Given the description of an element on the screen output the (x, y) to click on. 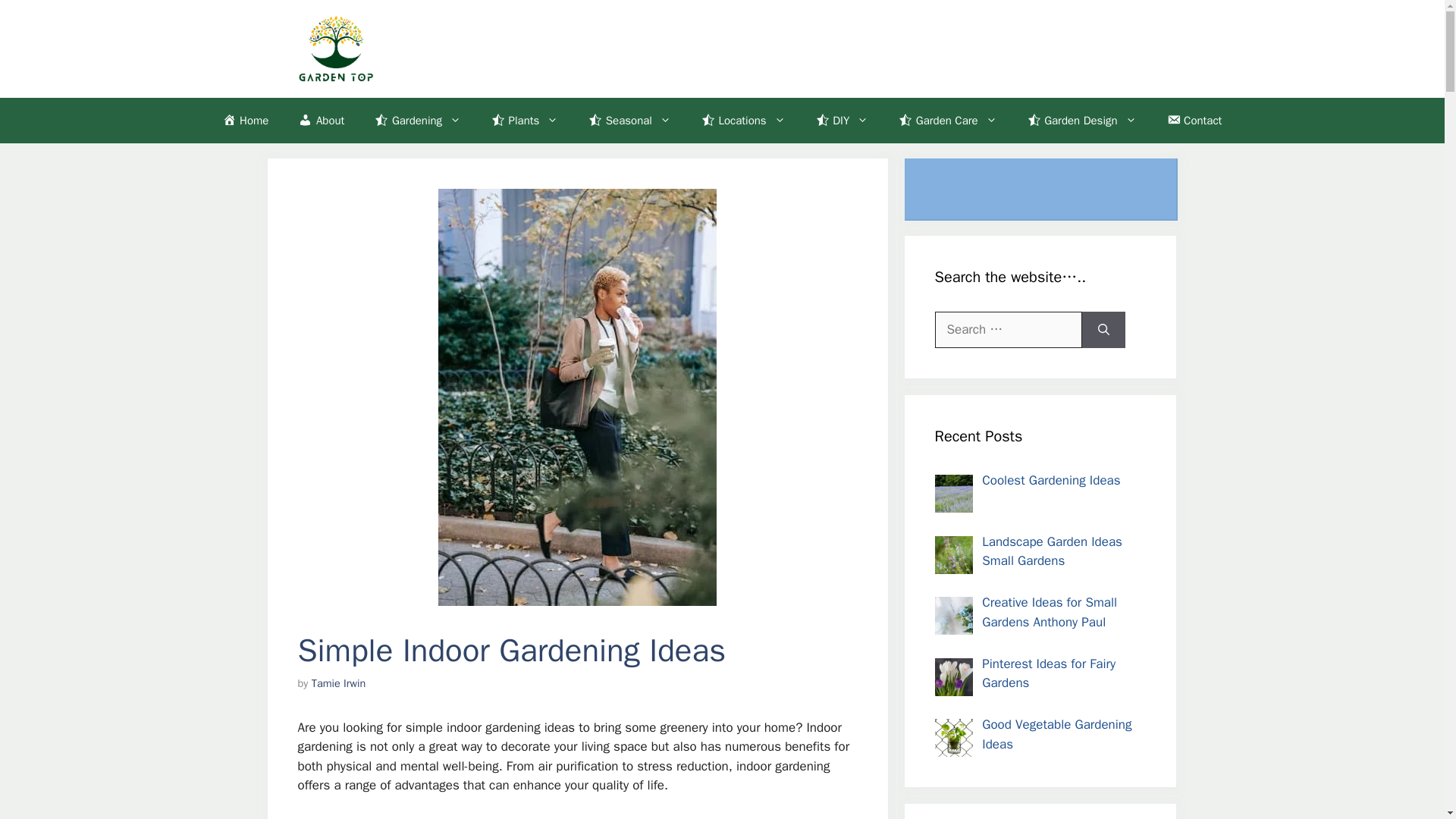
View all posts by Tamie Irwin (338, 683)
